Given the description of an element on the screen output the (x, y) to click on. 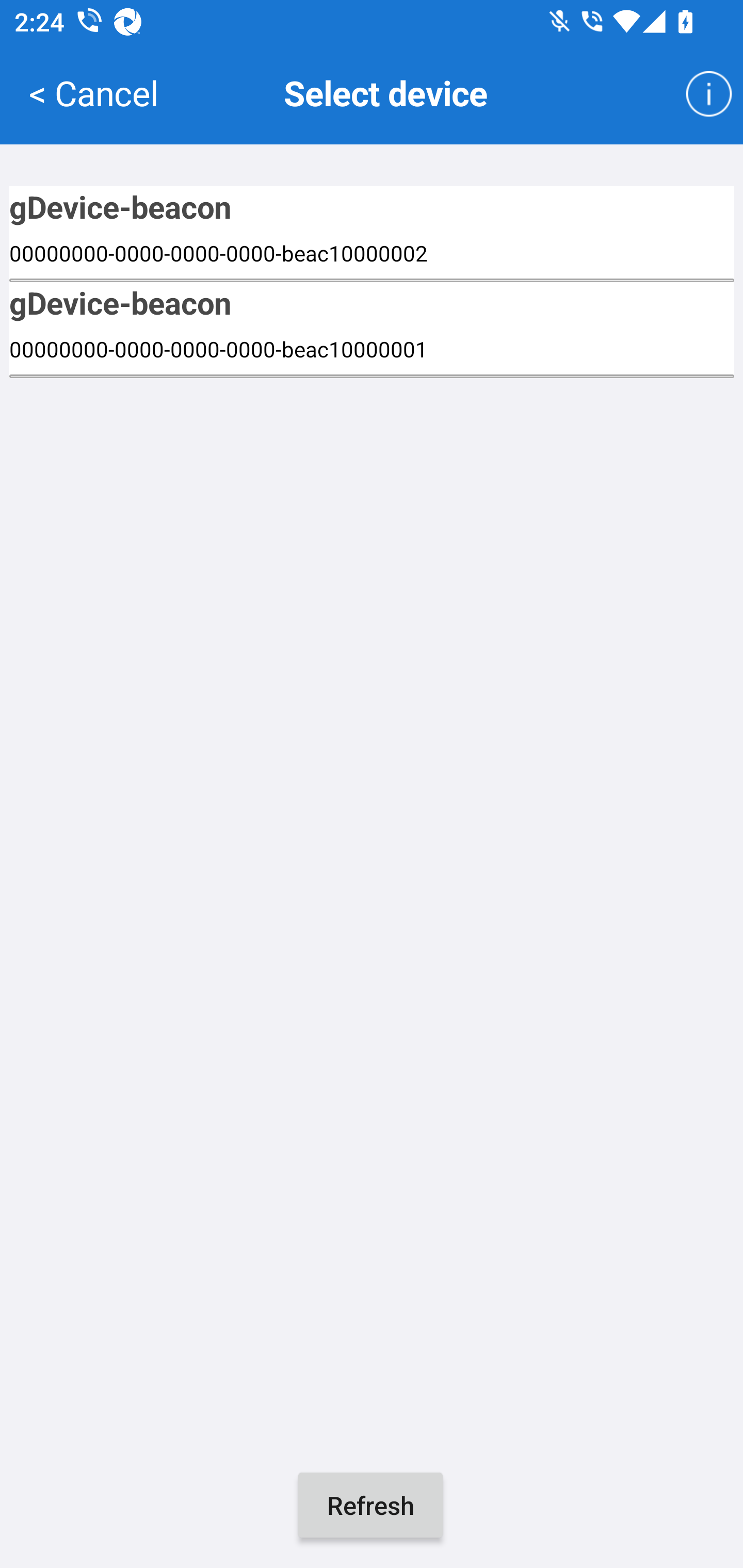
< Cancel (93, 92)
Refresh (370, 1505)
